Given the description of an element on the screen output the (x, y) to click on. 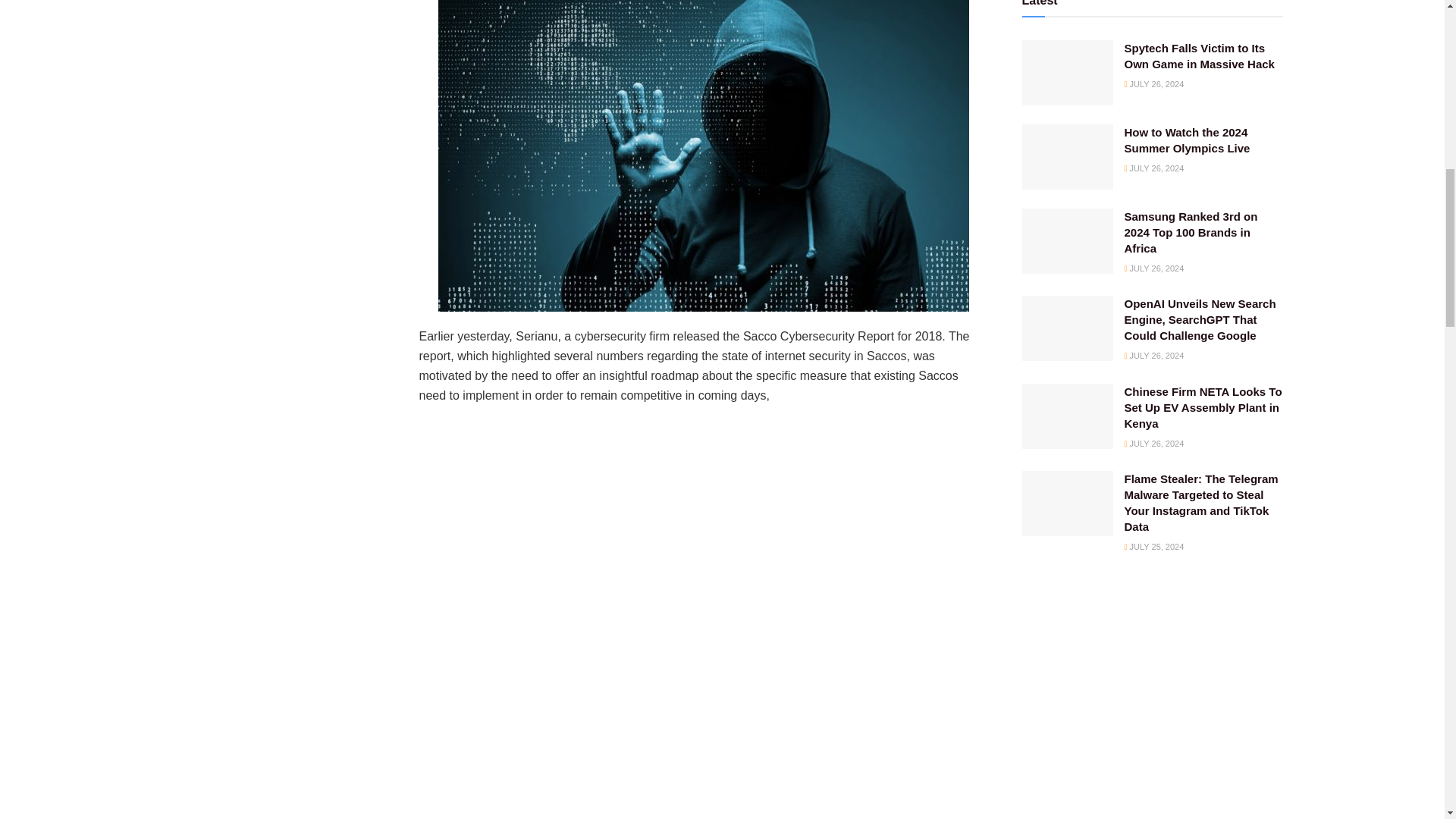
How to Cancel Your Showmax Subscription on Phone (151, 4)
